Given the description of an element on the screen output the (x, y) to click on. 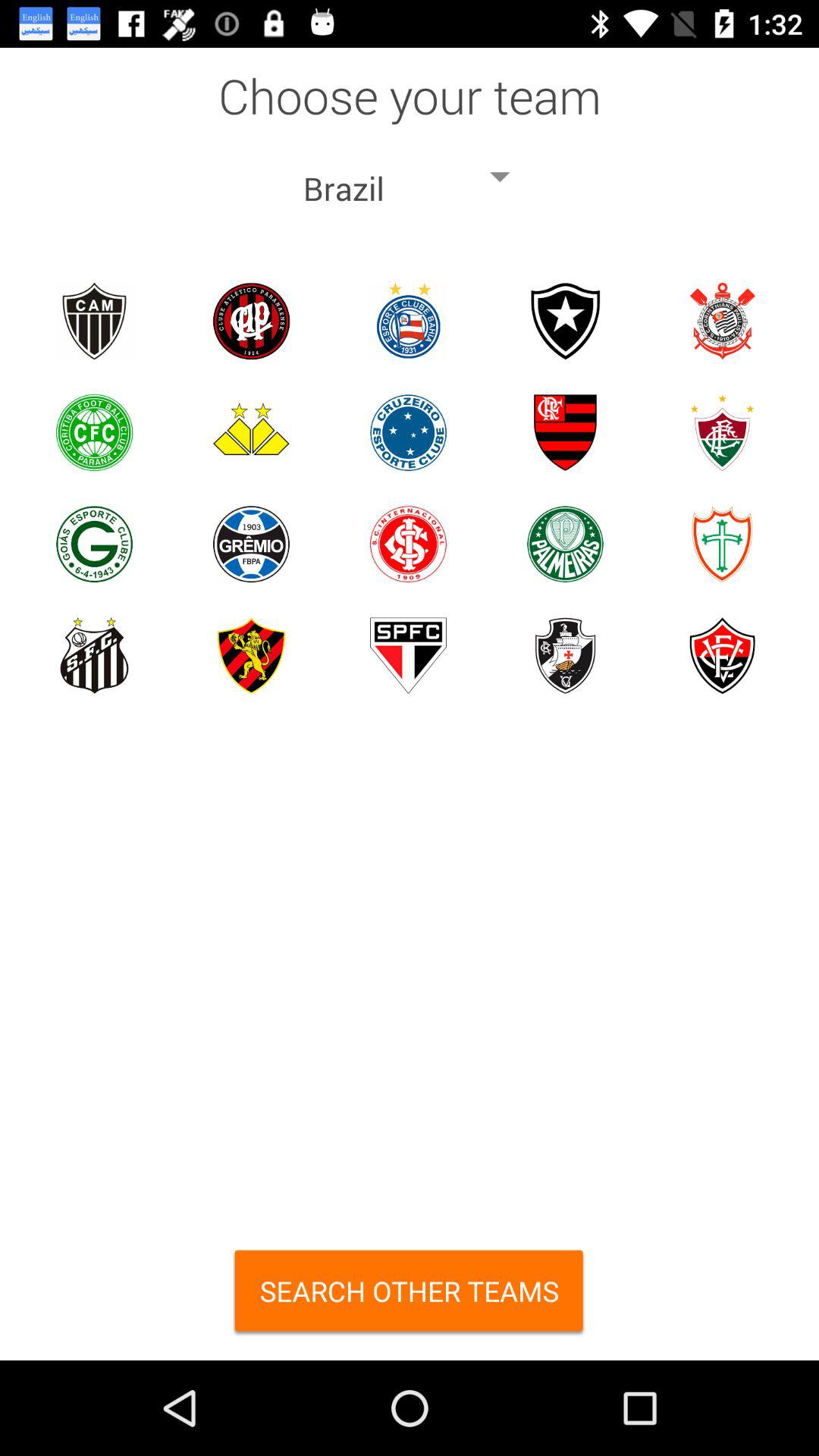
team choice option (408, 544)
